Given the description of an element on the screen output the (x, y) to click on. 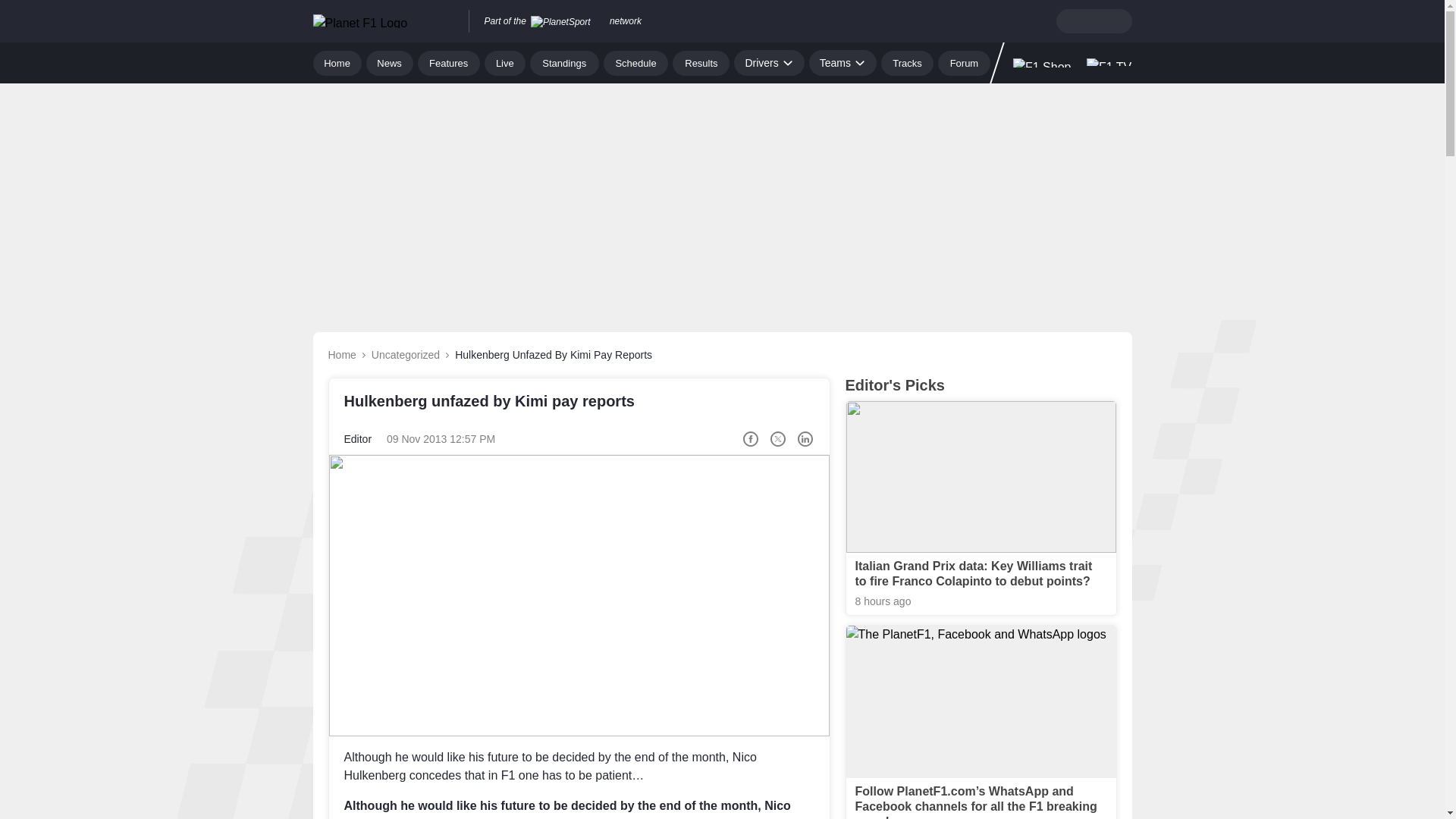
Features (448, 62)
Drivers (768, 62)
Results (700, 62)
News (389, 62)
Schedule (636, 62)
Live (504, 62)
Home (337, 62)
Standings (563, 62)
Teams (842, 62)
